Given the description of an element on the screen output the (x, y) to click on. 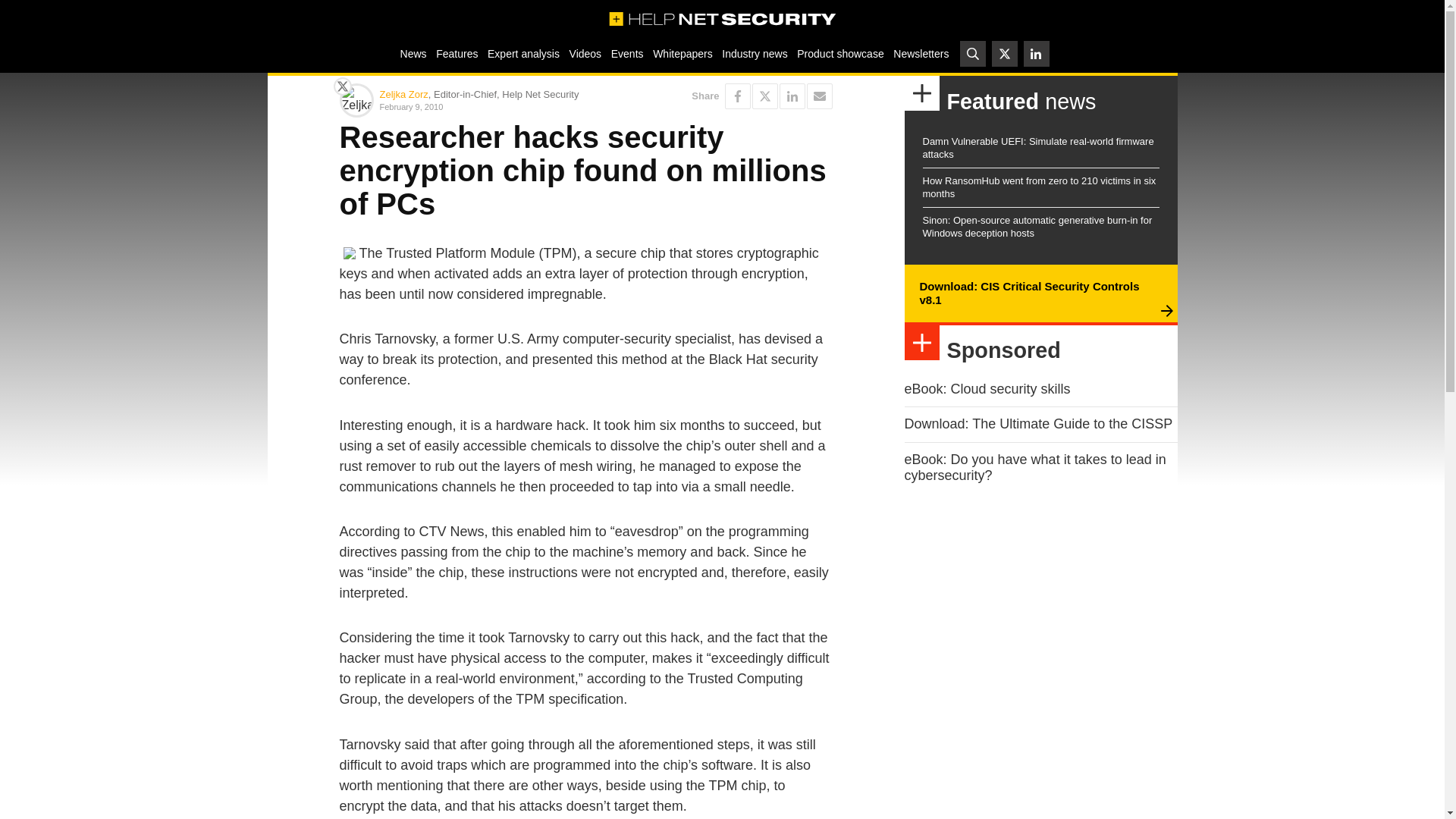
Events (626, 53)
eBook: Cloud security skills (987, 388)
Features (456, 53)
How RansomHub went from zero to 210 victims in six months (1038, 187)
February 9, 2010 (478, 106)
Zeljka Zorz (403, 93)
Videos (584, 53)
